Given the description of an element on the screen output the (x, y) to click on. 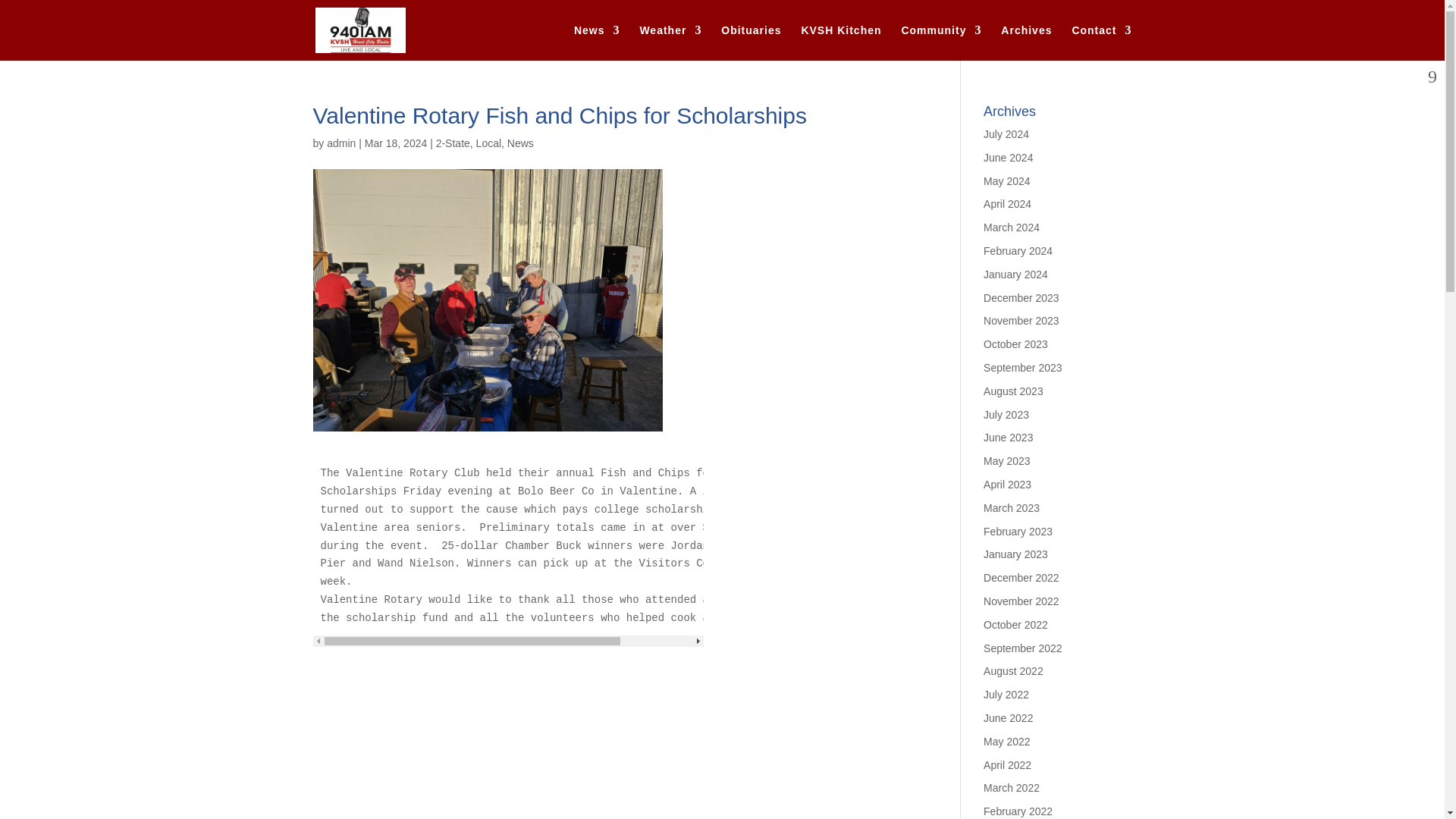
Weather (670, 42)
News (596, 42)
Obituaries (750, 42)
Archives (1026, 42)
Contact (1101, 42)
KVSH Kitchen (840, 42)
Community (941, 42)
Posts by admin (340, 143)
